Given the description of an element on the screen output the (x, y) to click on. 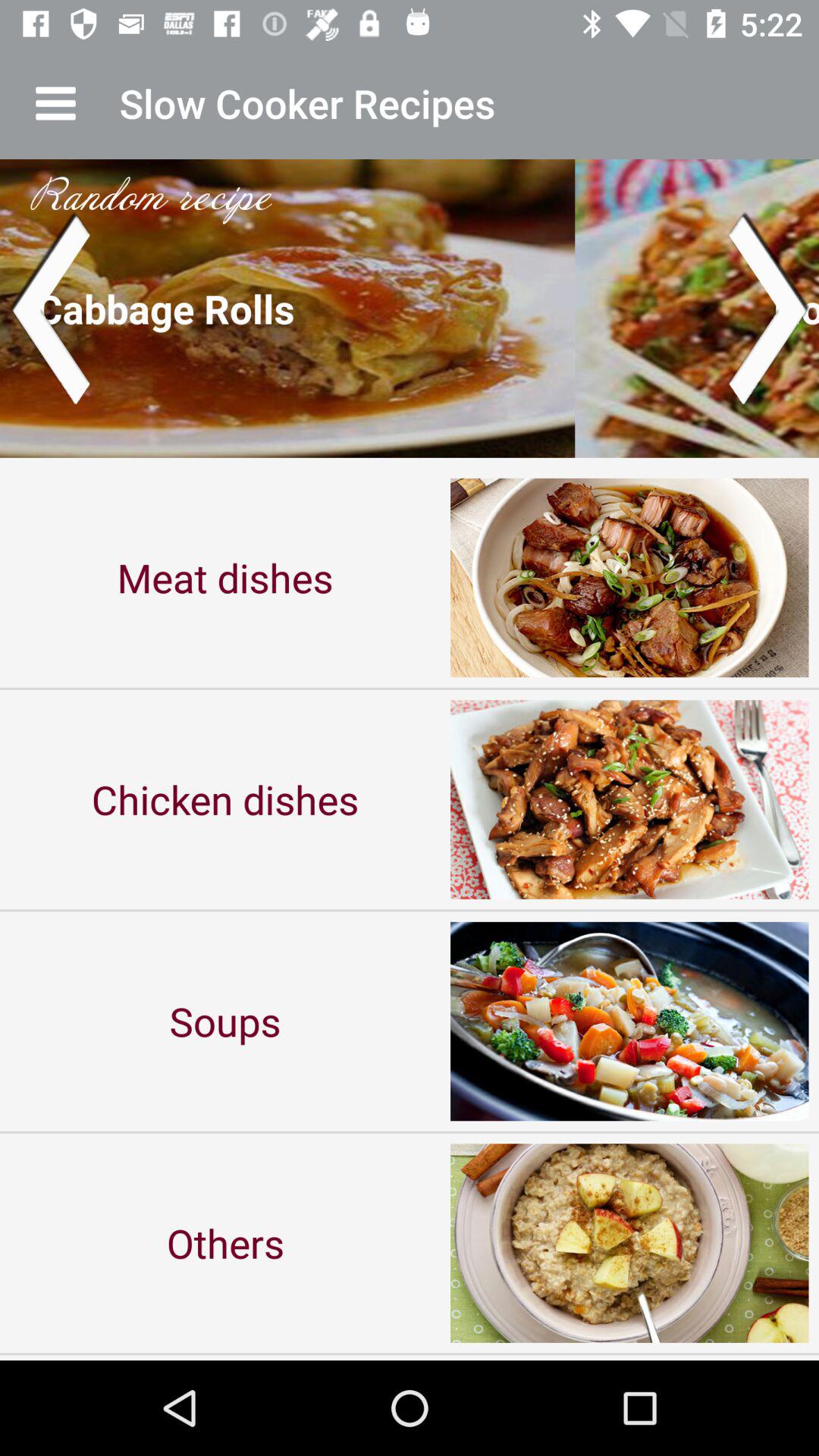
select cabbage rolls option (409, 308)
